Given the description of an element on the screen output the (x, y) to click on. 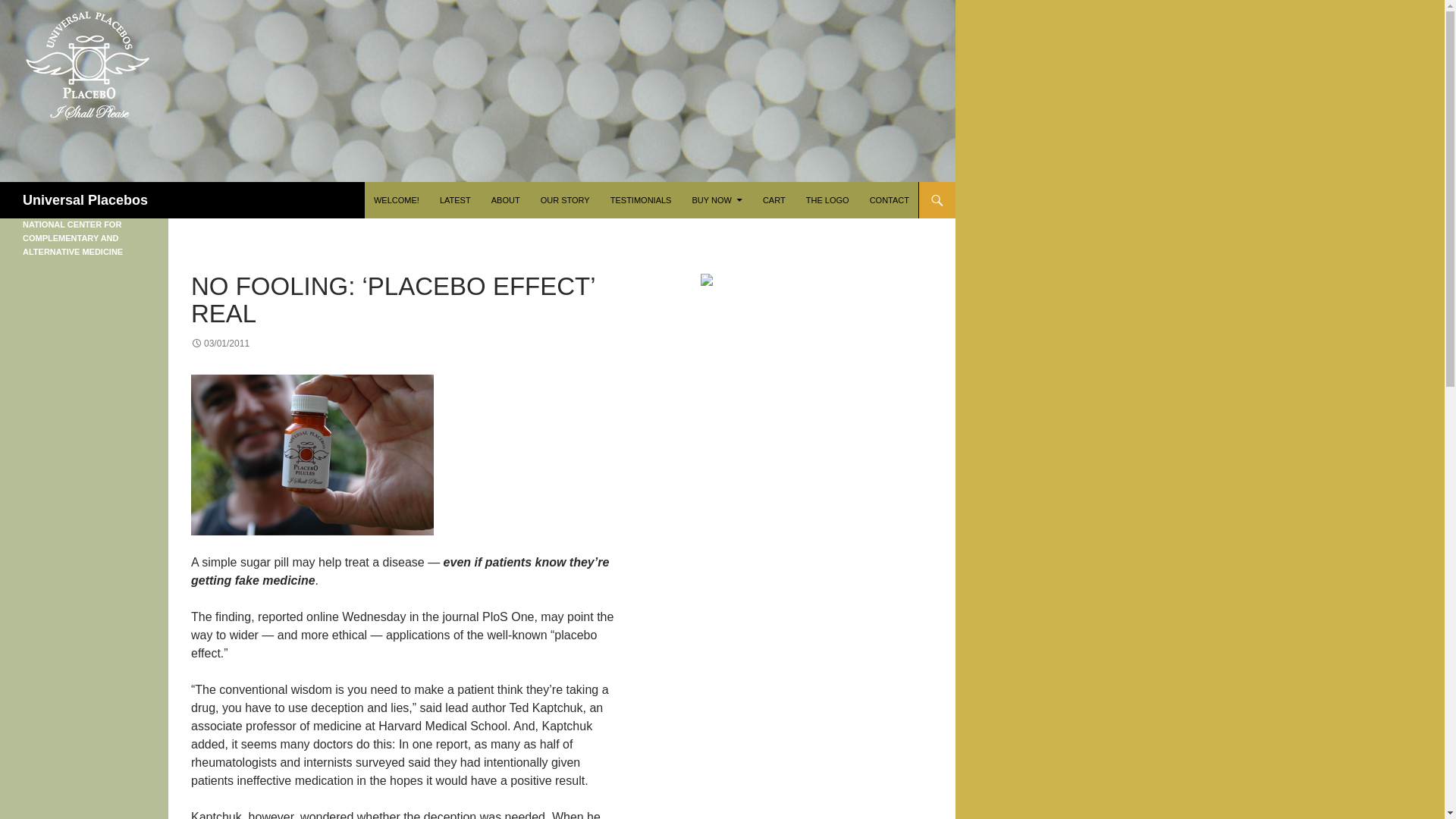
CONTACT (889, 199)
CART (774, 199)
LATEST (455, 199)
BUY NOW (716, 199)
OUR STORY (564, 199)
ABOUT (505, 199)
THE LOGO (827, 199)
TESTIMONIALS (641, 199)
2466 (311, 454)
WELCOME! (396, 199)
Universal Placebos (85, 199)
